Given the description of an element on the screen output the (x, y) to click on. 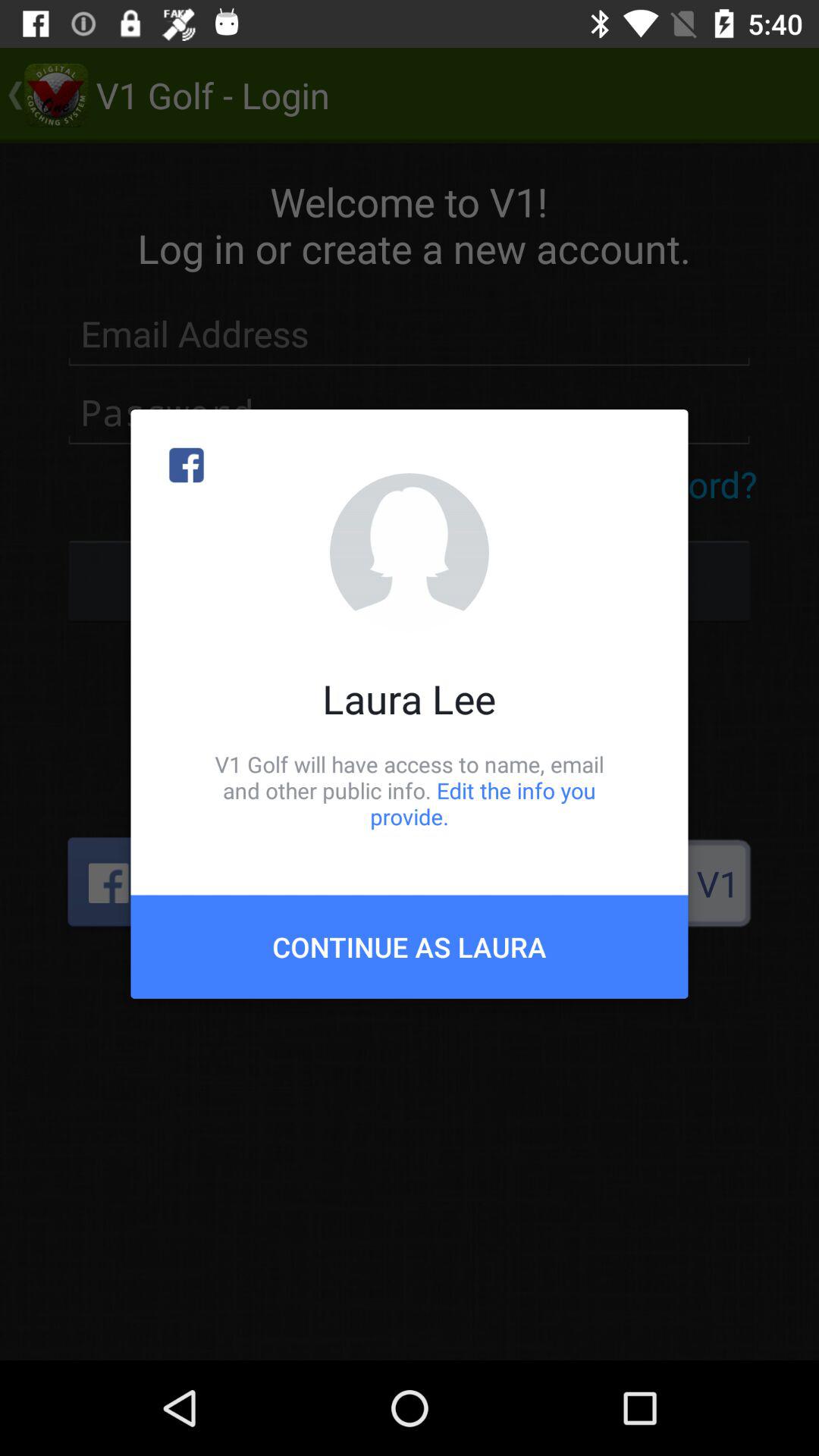
scroll to the v1 golf will item (409, 790)
